Given the description of an element on the screen output the (x, y) to click on. 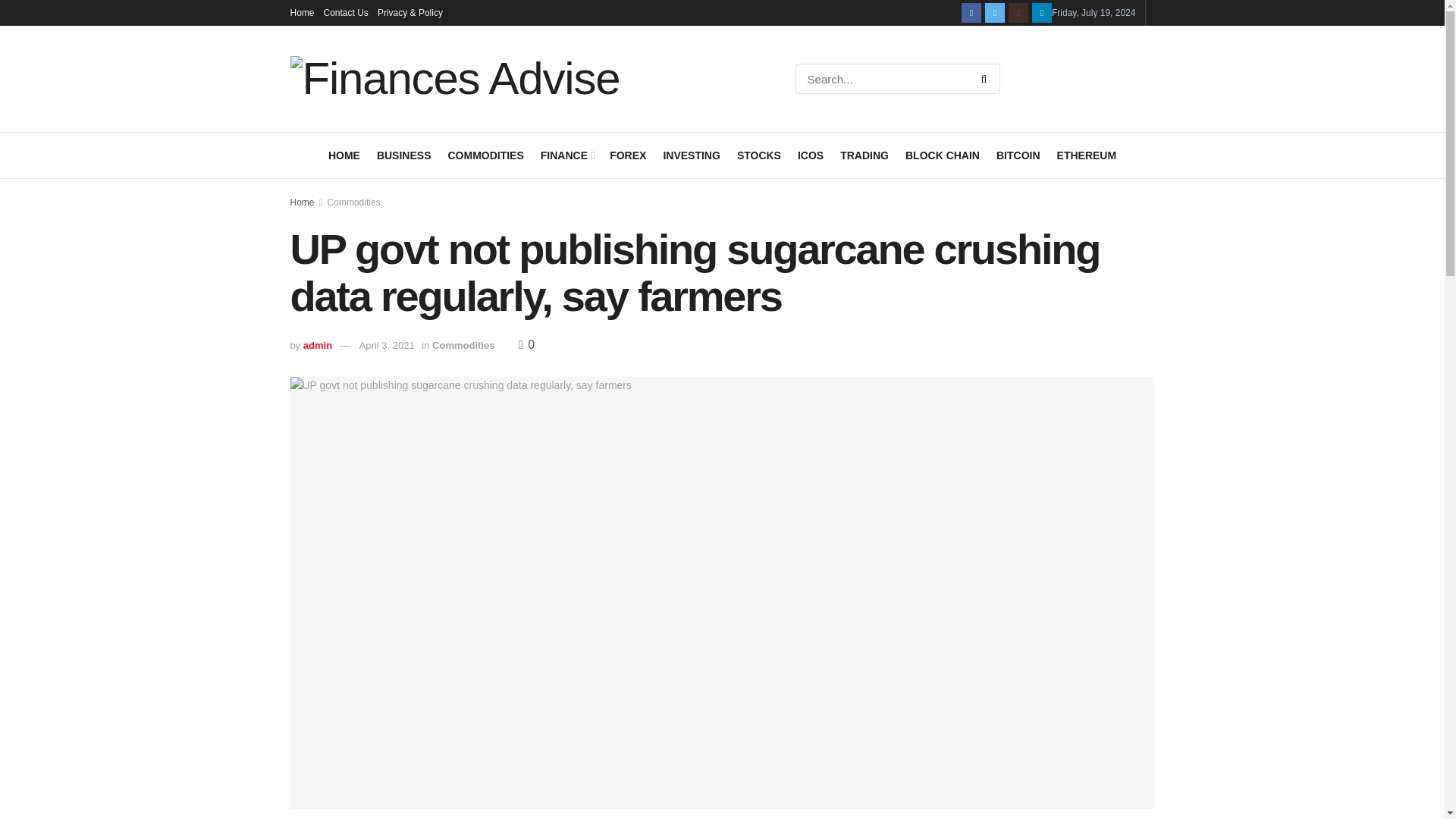
BUSINESS (403, 155)
BITCOIN (1018, 155)
Home (301, 12)
FINANCE (566, 155)
TRADING (864, 155)
ETHEREUM (1086, 155)
BLOCK CHAIN (942, 155)
Contact Us (345, 12)
STOCKS (758, 155)
COMMODITIES (484, 155)
INVESTING (690, 155)
